Given the description of an element on the screen output the (x, y) to click on. 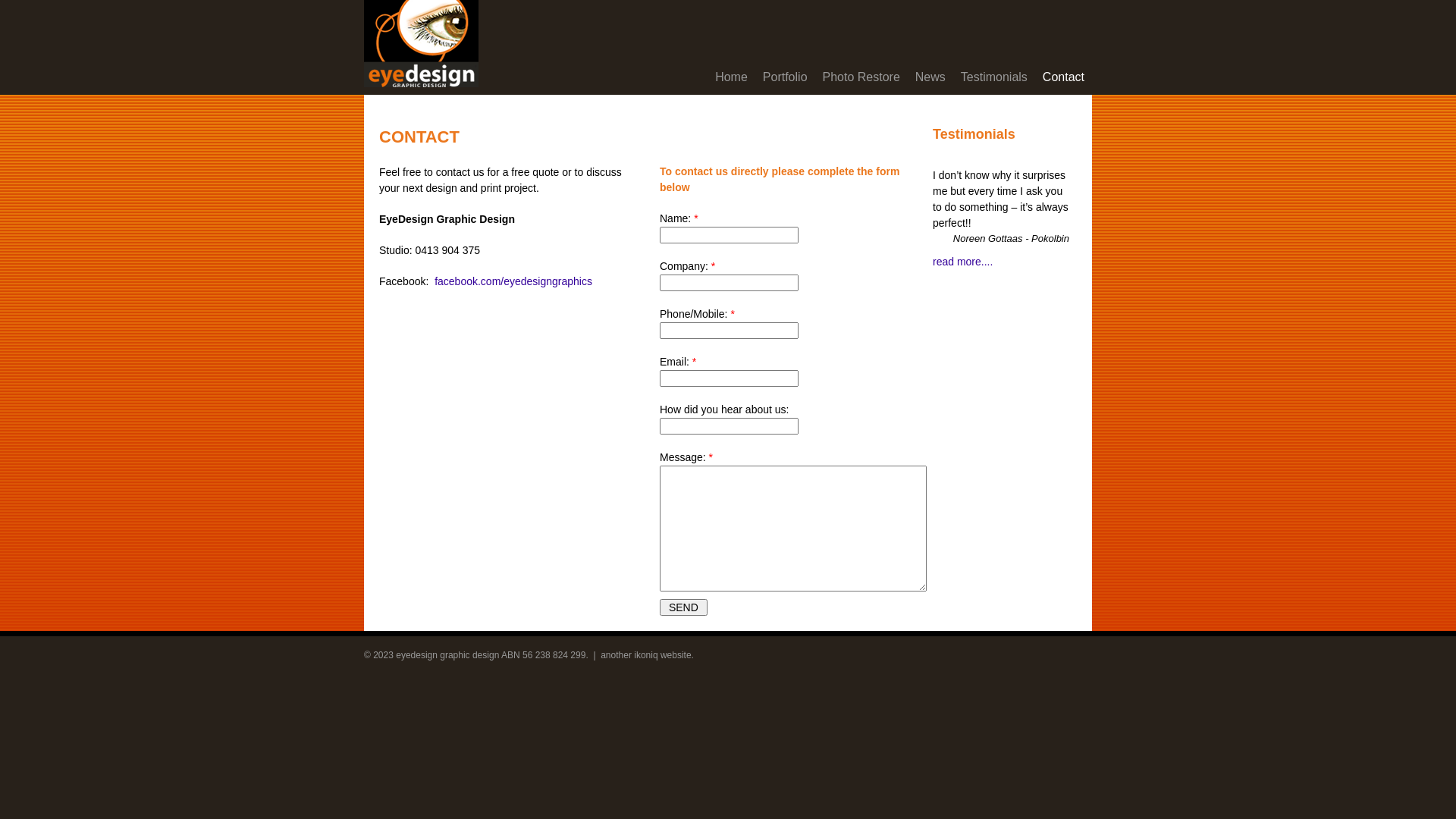
facebook.com/eyedesigngraphics Element type: text (513, 281)
Home Element type: text (731, 76)
Testimonials Element type: text (993, 76)
read more.... Element type: text (962, 260)
ikoniq Element type: text (645, 654)
Portfolio Element type: text (784, 76)
Contact Element type: text (1063, 76)
 SEND  Element type: text (683, 607)
News Element type: text (930, 76)
Photo Restore Element type: text (861, 76)
